Given the description of an element on the screen output the (x, y) to click on. 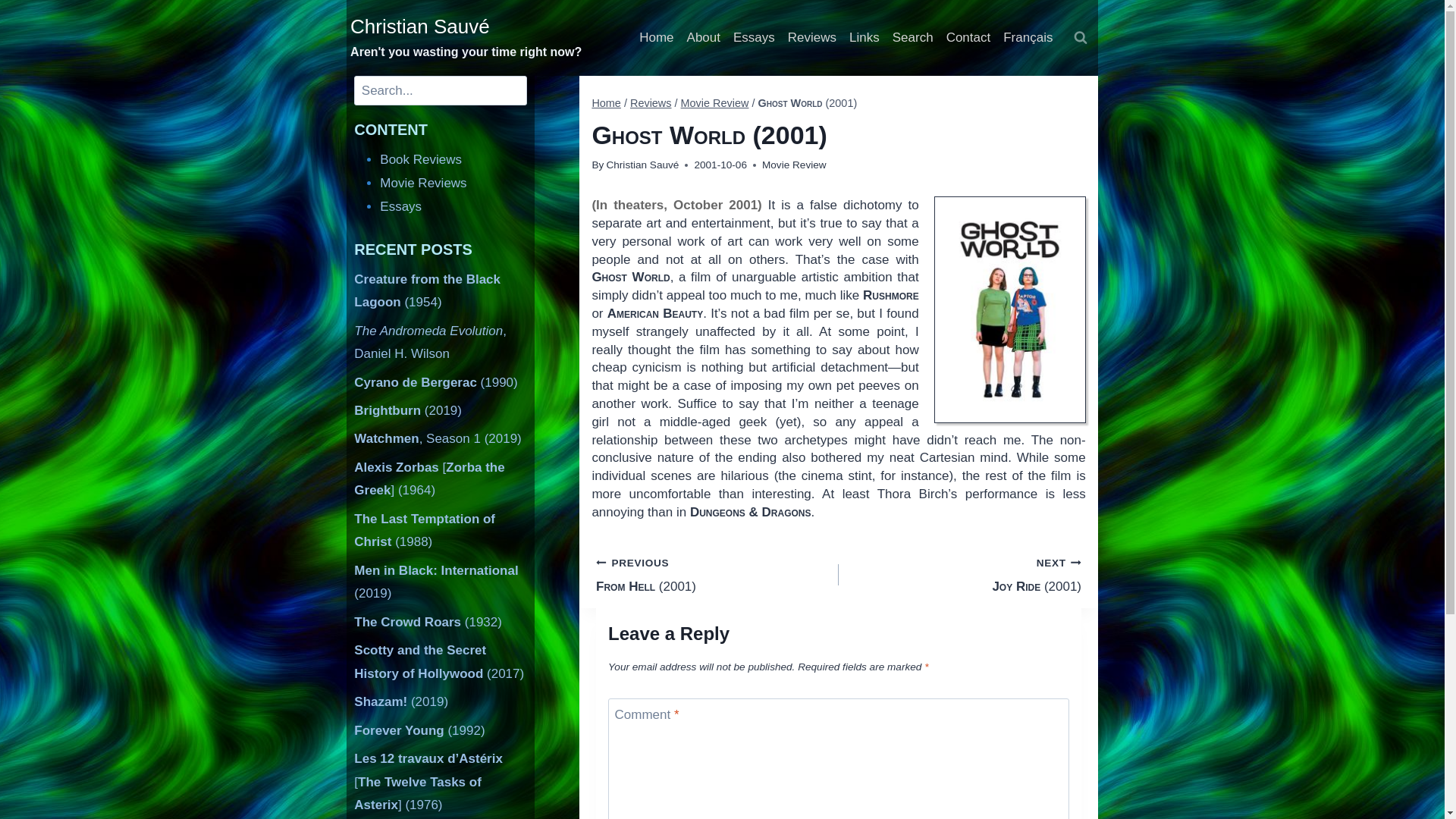
The Andromeda Evolution, Daniel H. Wilson (429, 342)
Reviews (811, 38)
Home (656, 38)
Contact (968, 38)
Home (606, 102)
Movie Reviews (422, 183)
About (702, 38)
Reviews (650, 102)
Movie Review (715, 102)
Book Reviews (420, 159)
Search (912, 38)
Essays (753, 38)
Links (864, 38)
Movie Review (794, 164)
Essays (401, 206)
